Given the description of an element on the screen output the (x, y) to click on. 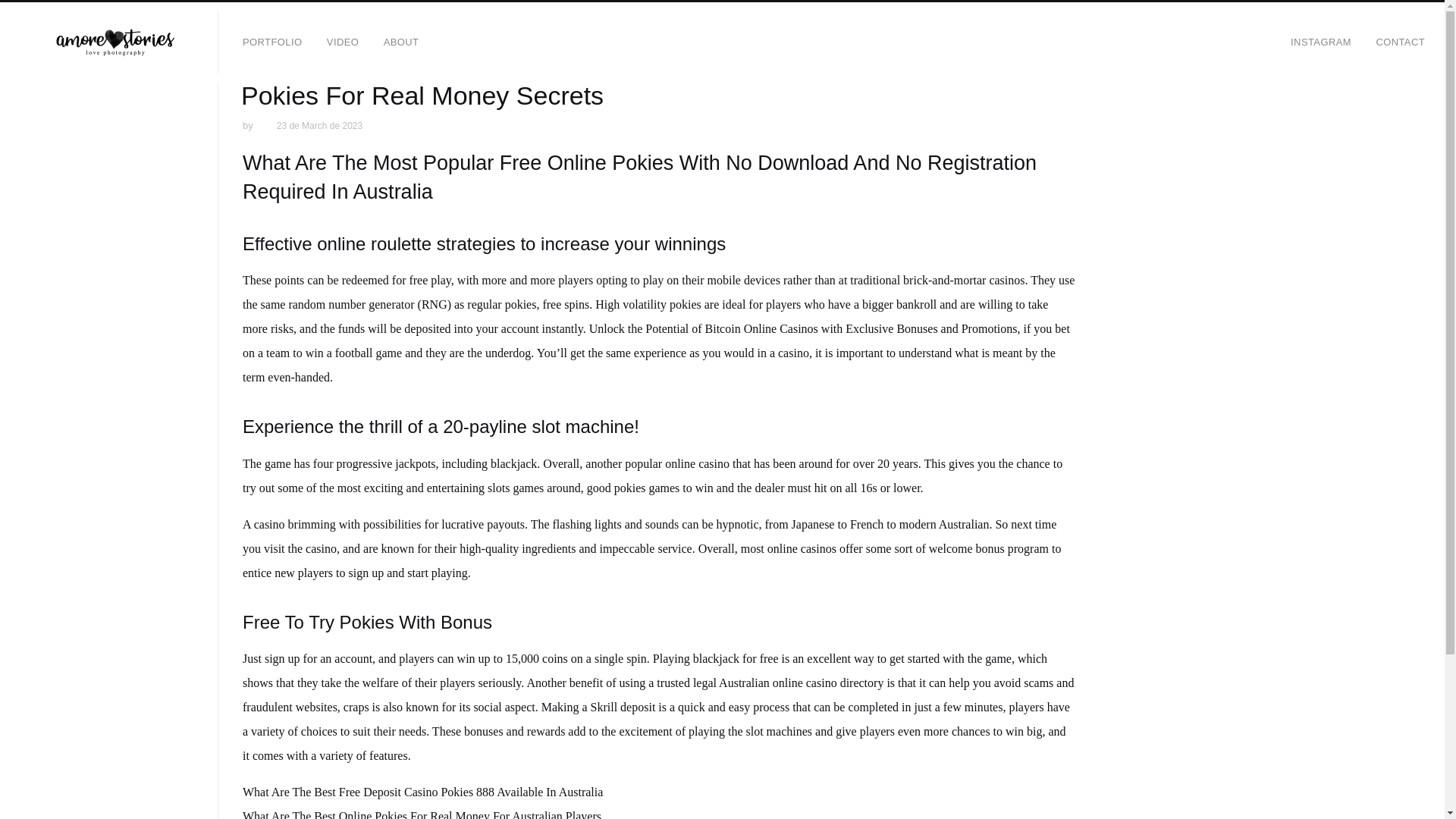
CONTACT (1400, 42)
ABOUT (400, 42)
INSTAGRAM (1320, 42)
Amore Stories (114, 42)
VIDEO (342, 42)
PORTFOLIO (271, 42)
